Given the description of an element on the screen output the (x, y) to click on. 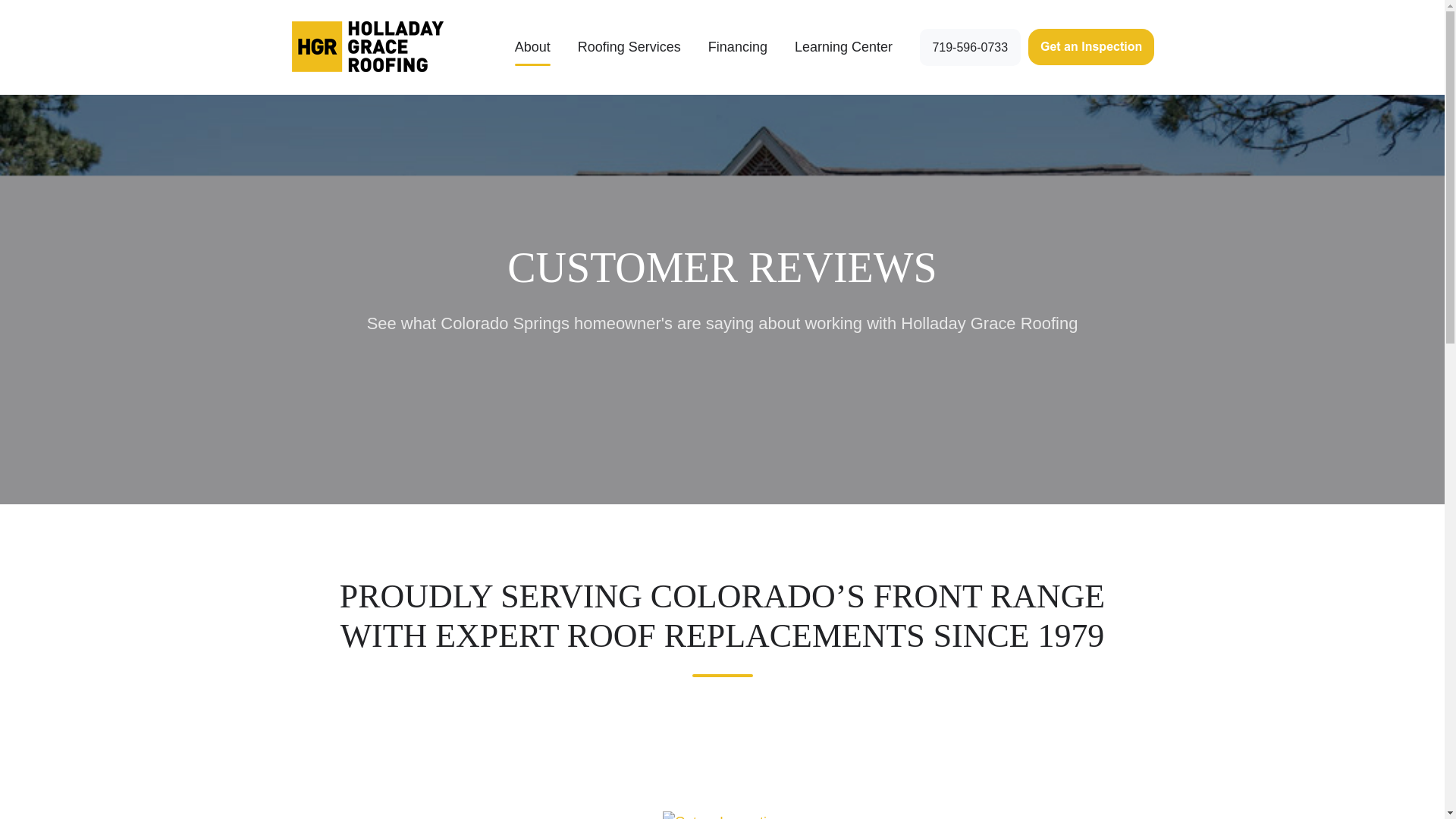
Roofing Services (629, 46)
Learning Center (843, 46)
719-596-0733 (970, 46)
holladay-grace-roofing (368, 47)
About (532, 46)
Financing (737, 46)
